Given the description of an element on the screen output the (x, y) to click on. 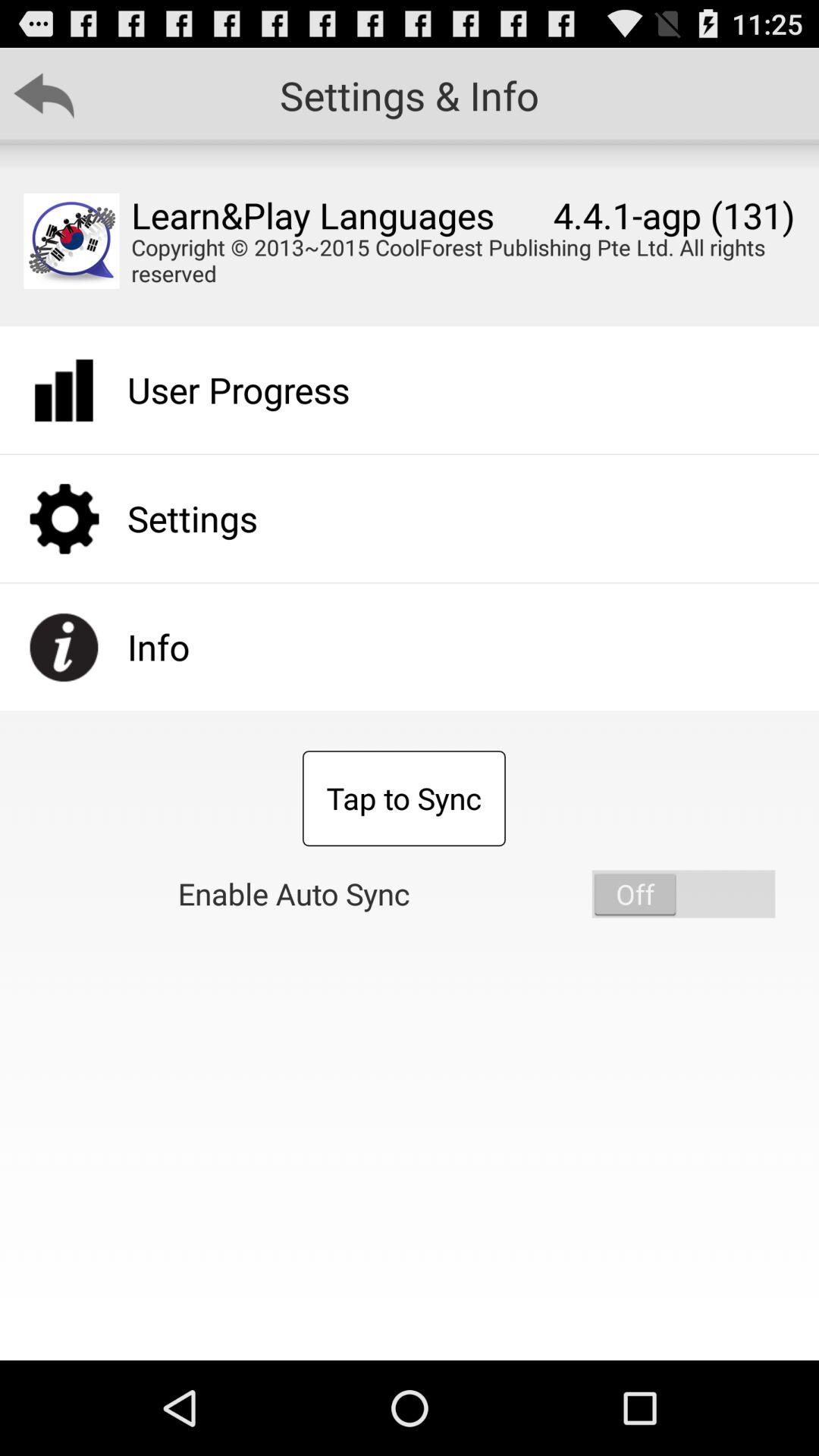
jump until user progress app (238, 389)
